Given the description of an element on the screen output the (x, y) to click on. 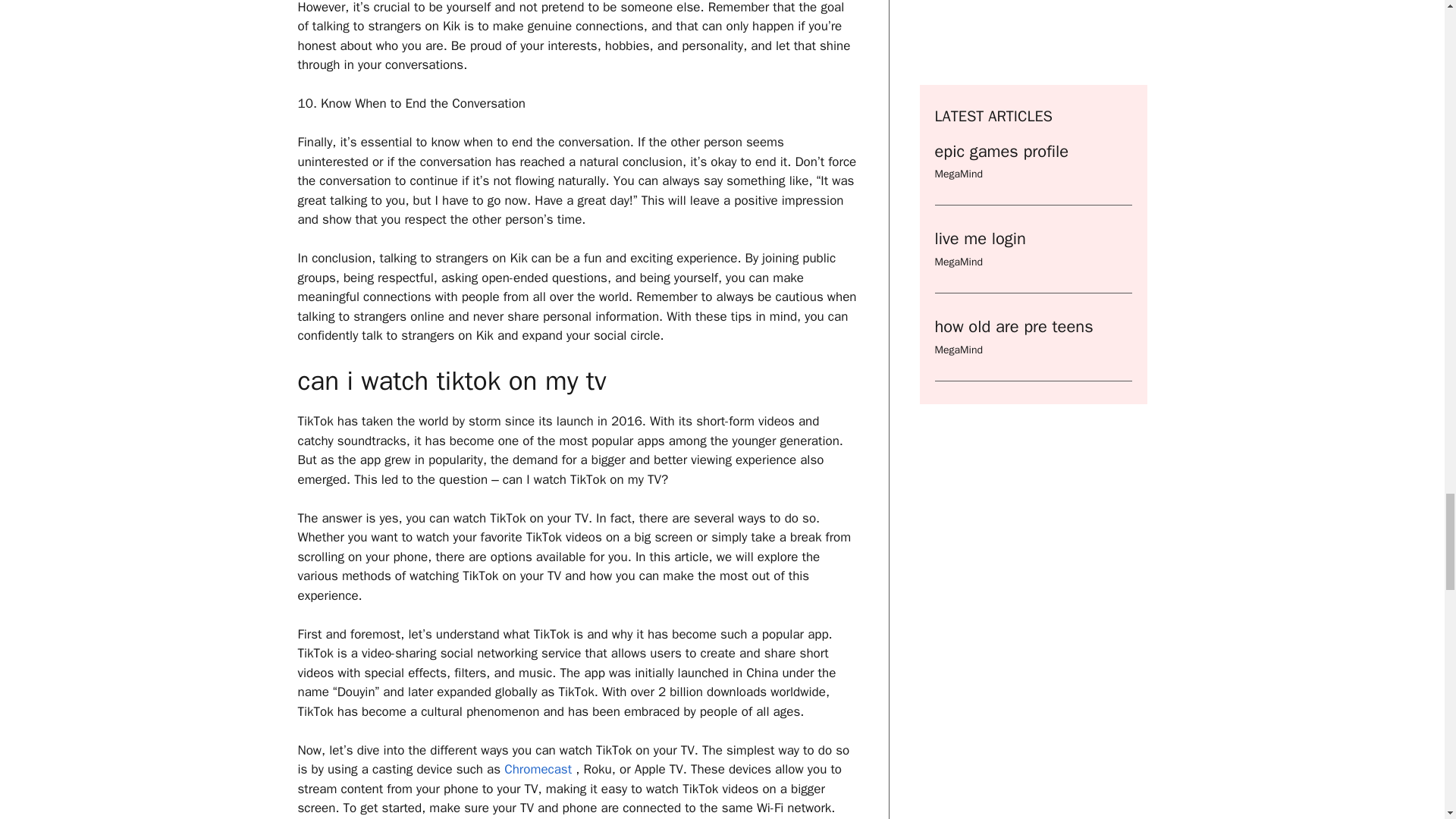
Chromecast (537, 769)
